Given the description of an element on the screen output the (x, y) to click on. 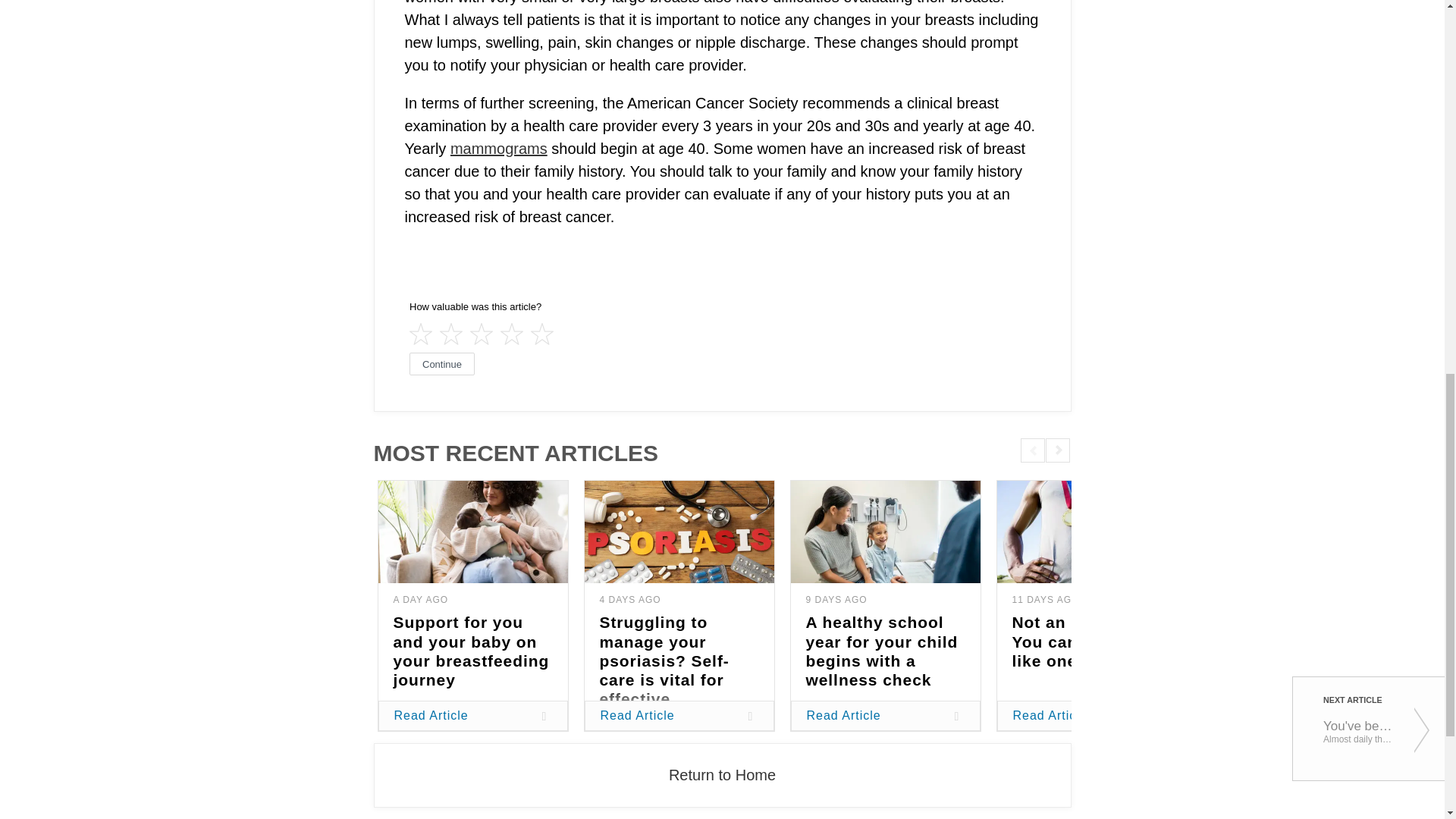
2024-08-06T18:31:48 (1044, 599)
2024-08-09T11:51:00 (835, 599)
2024-08-16T15:24:19 (420, 599)
2024-08-14T12:40:52 (629, 599)
